Given the description of an element on the screen output the (x, y) to click on. 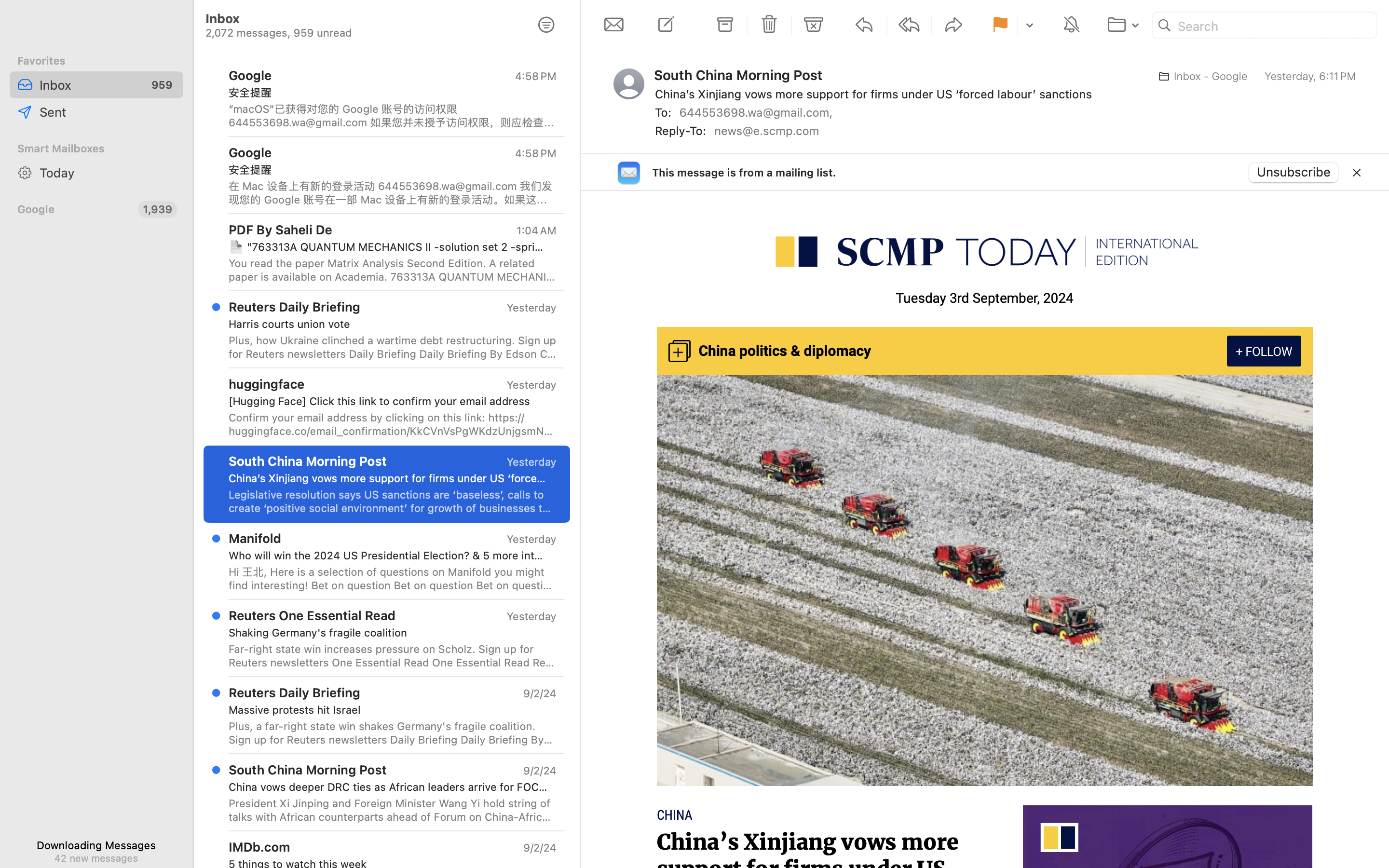
Yesterday, 6:11 PM Element type: AXStaticText (1310, 75)
Reuters Daily Briefing Element type: AXStaticText (294, 692)
South China Morning Post Element type: AXStaticText (742, 74)
2,072 messages, 959 unread Element type: AXStaticText (360, 800)
在 Mac 设备上有新的登录活动 644553698.wa@gmail.com 我们发现您的 Google 账号在一部 Mac 设备上有新的登录活动。如果这是您本人的操作，那么您无需采取任何行动。如果这不是您本人的操作，我们会帮助您保护您的账号。 查看活动 您也可以访问以下网址查看安全性活动： https://myaccount.google.com/notifications 我们向您发送这封电子邮件，目的是让您了解关于您的 Google 账号和服务的重大变化。 © 2024 Google LLC, 1600 Amphitheatre Parkway, Mountain View, CA 94043, USA Element type: AXStaticText (392, 192)
